Given the description of an element on the screen output the (x, y) to click on. 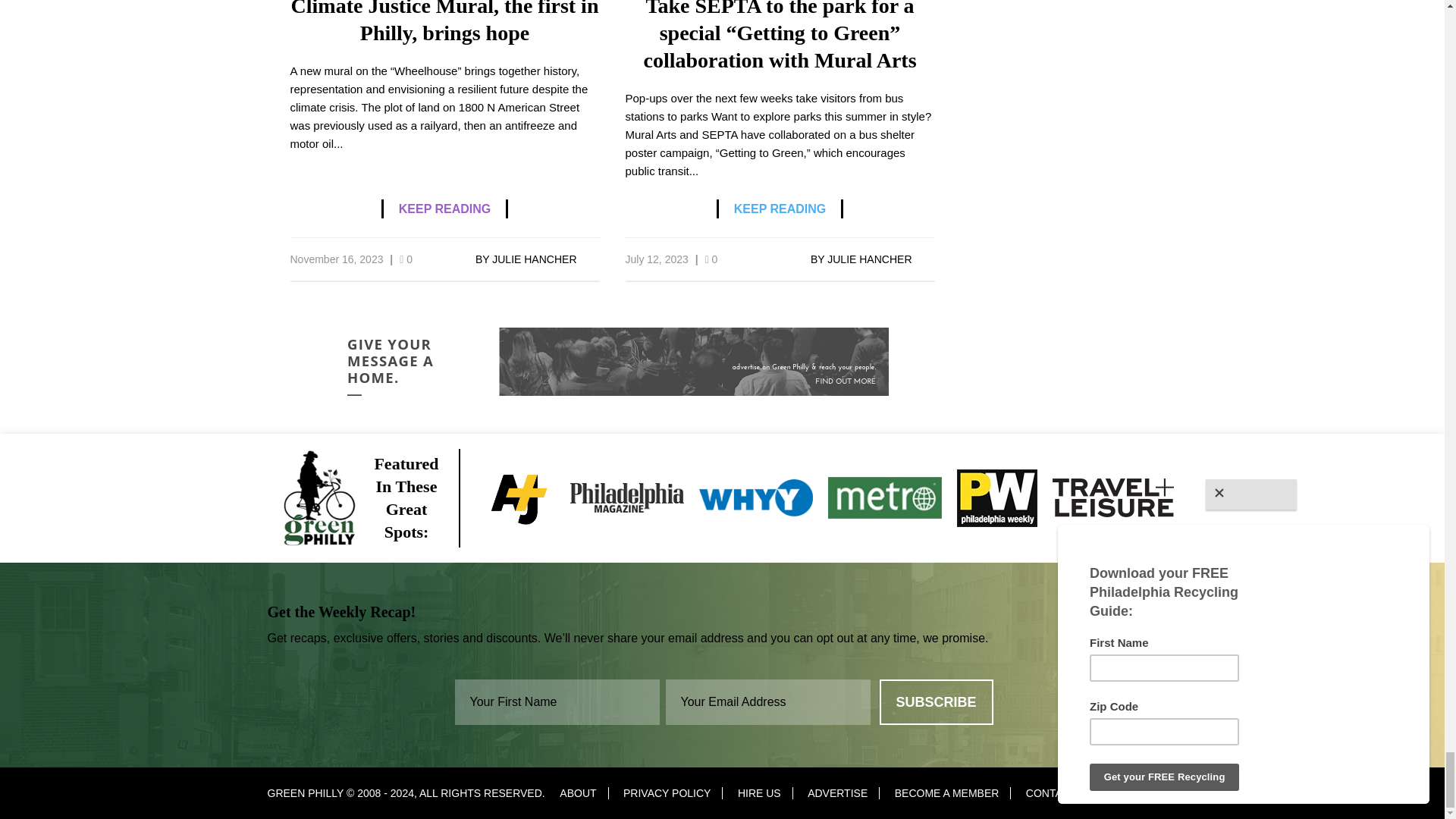
Subscribe (935, 701)
